Given the description of an element on the screen output the (x, y) to click on. 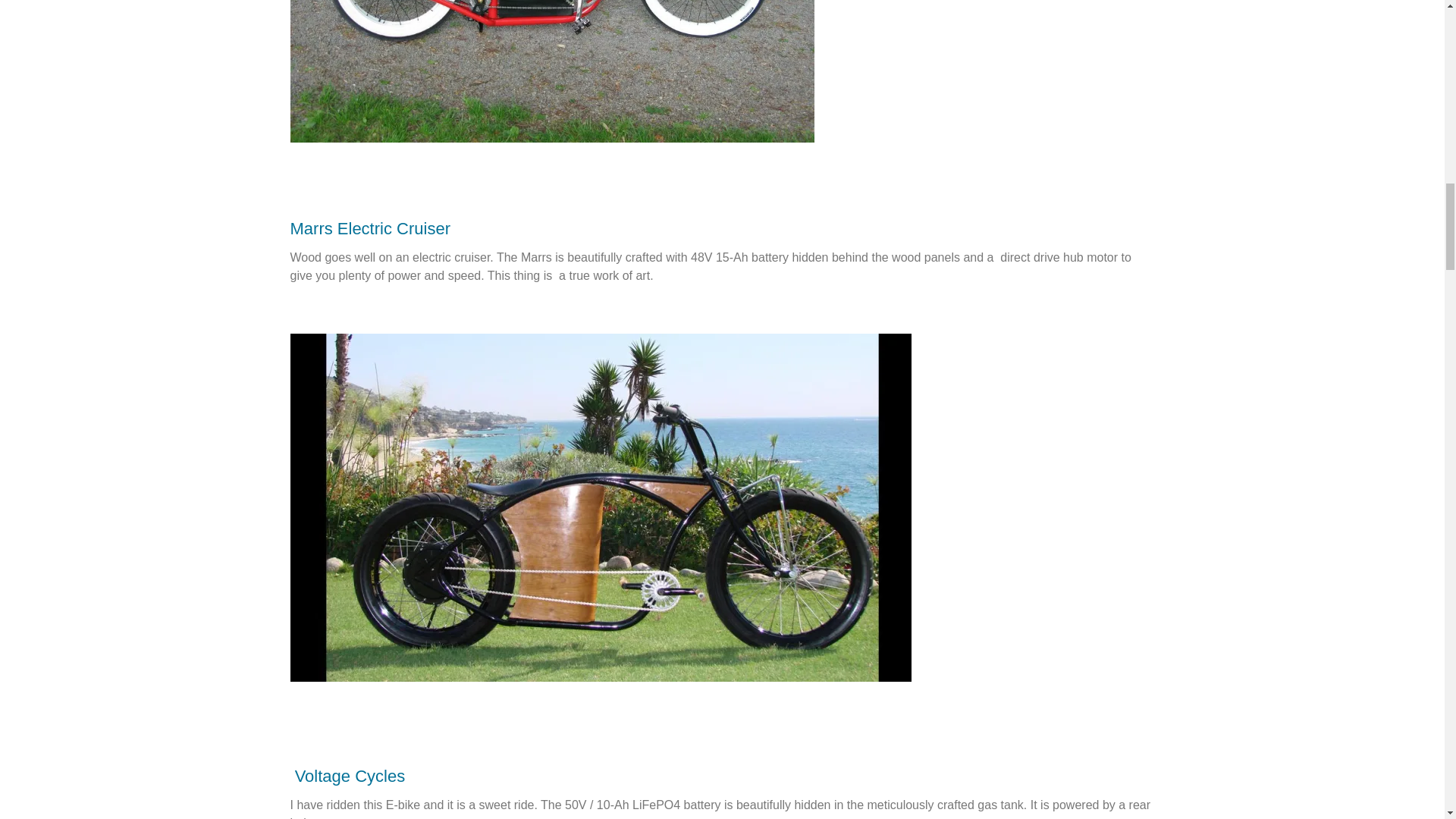
Marrs Electric Cruiser (369, 240)
elector prime (551, 71)
Voltage Cycles (350, 775)
